Given the description of an element on the screen output the (x, y) to click on. 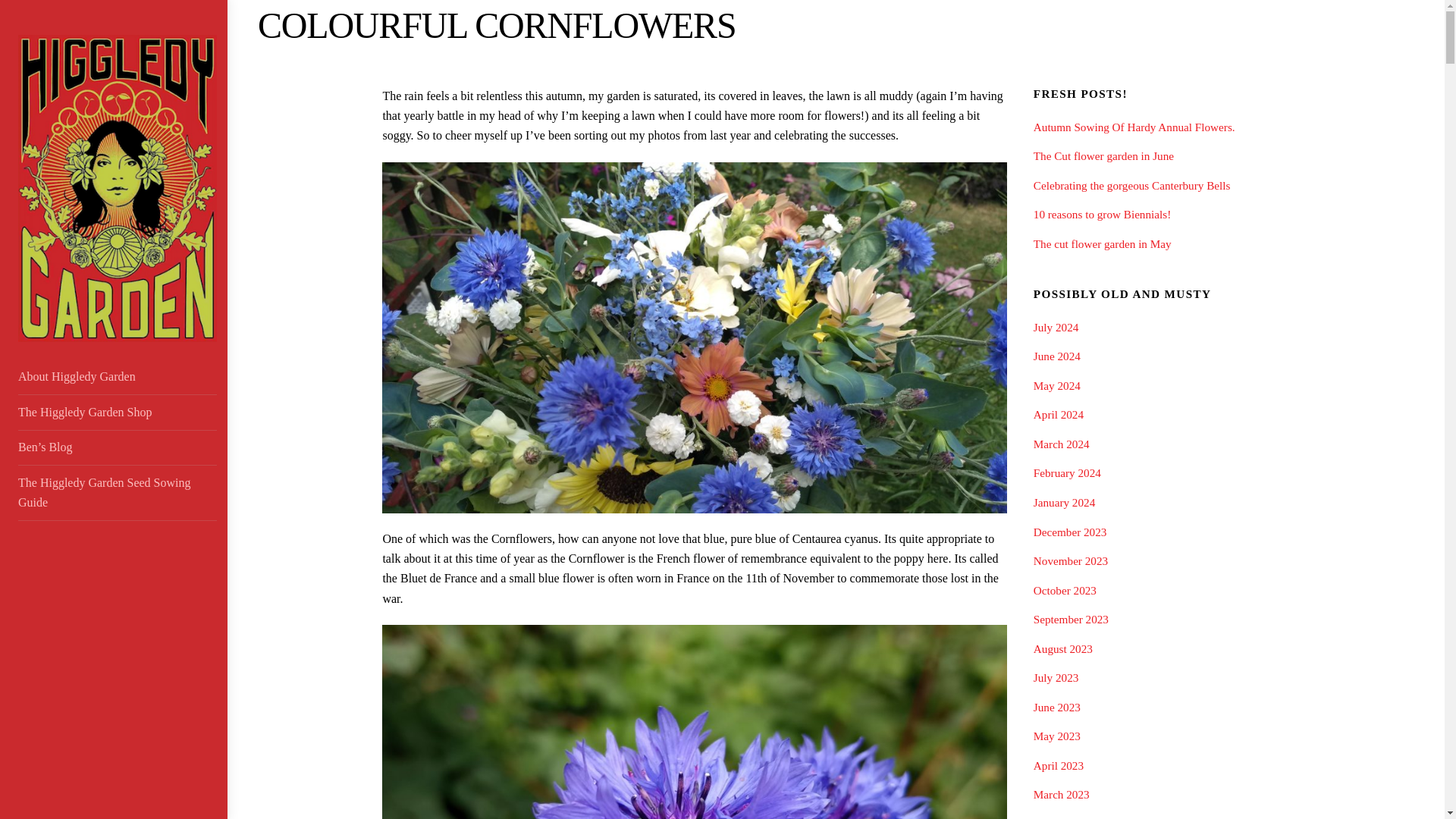
10 reasons to grow Biennials! (1101, 214)
The cut flower garden in May (1102, 243)
The Higgledy Garden Seed Sowing Guide (116, 493)
COLOURFUL CORNFLOWERS (496, 24)
Celebrating the gorgeous Canterbury Bells (1131, 185)
The Cut flower garden in June (1103, 155)
Higgledy Garden (116, 334)
April 2024 (1058, 413)
July 2024 (1055, 327)
June 2024 (1056, 355)
The Higgledy Garden Shop (116, 412)
May 2024 (1056, 385)
Autumn Sowing Of Hardy Annual Flowers. (1133, 126)
About Higgledy Garden (116, 376)
